Given the description of an element on the screen output the (x, y) to click on. 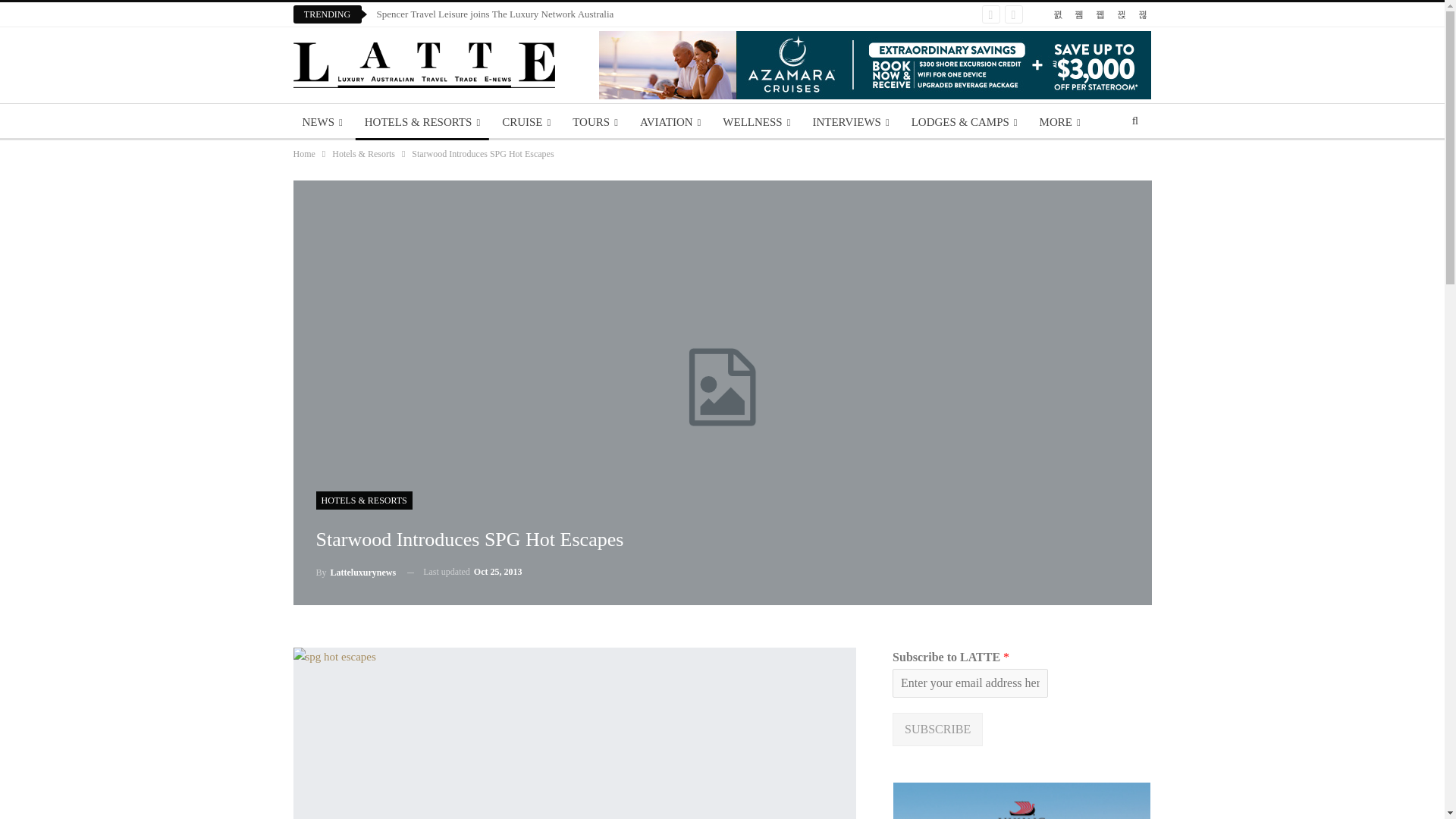
NEWS (321, 122)
Spencer Travel Leisure joins The Luxury Network Australia (493, 13)
